Given the description of an element on the screen output the (x, y) to click on. 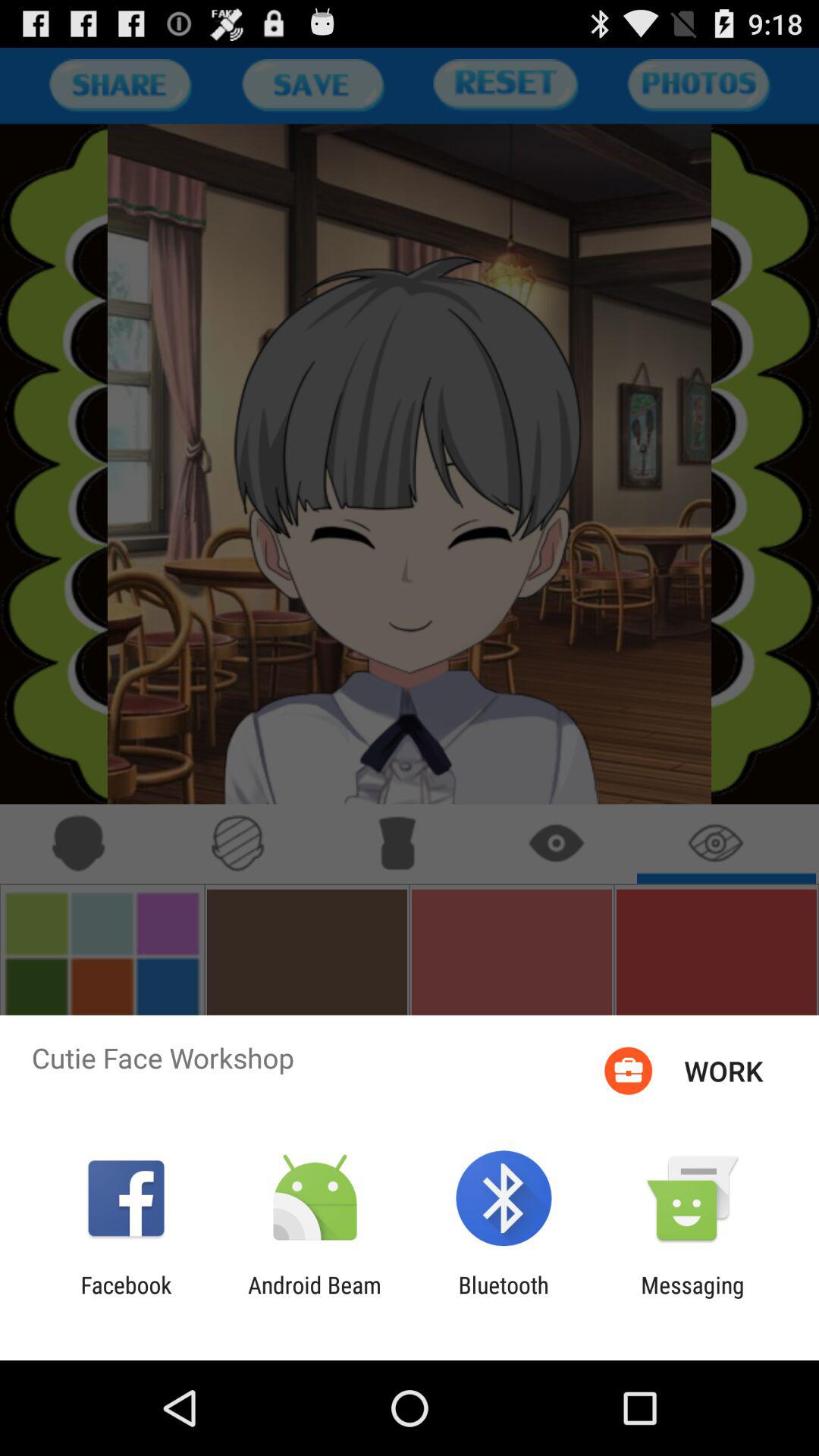
click the icon next to the android beam (503, 1298)
